Given the description of an element on the screen output the (x, y) to click on. 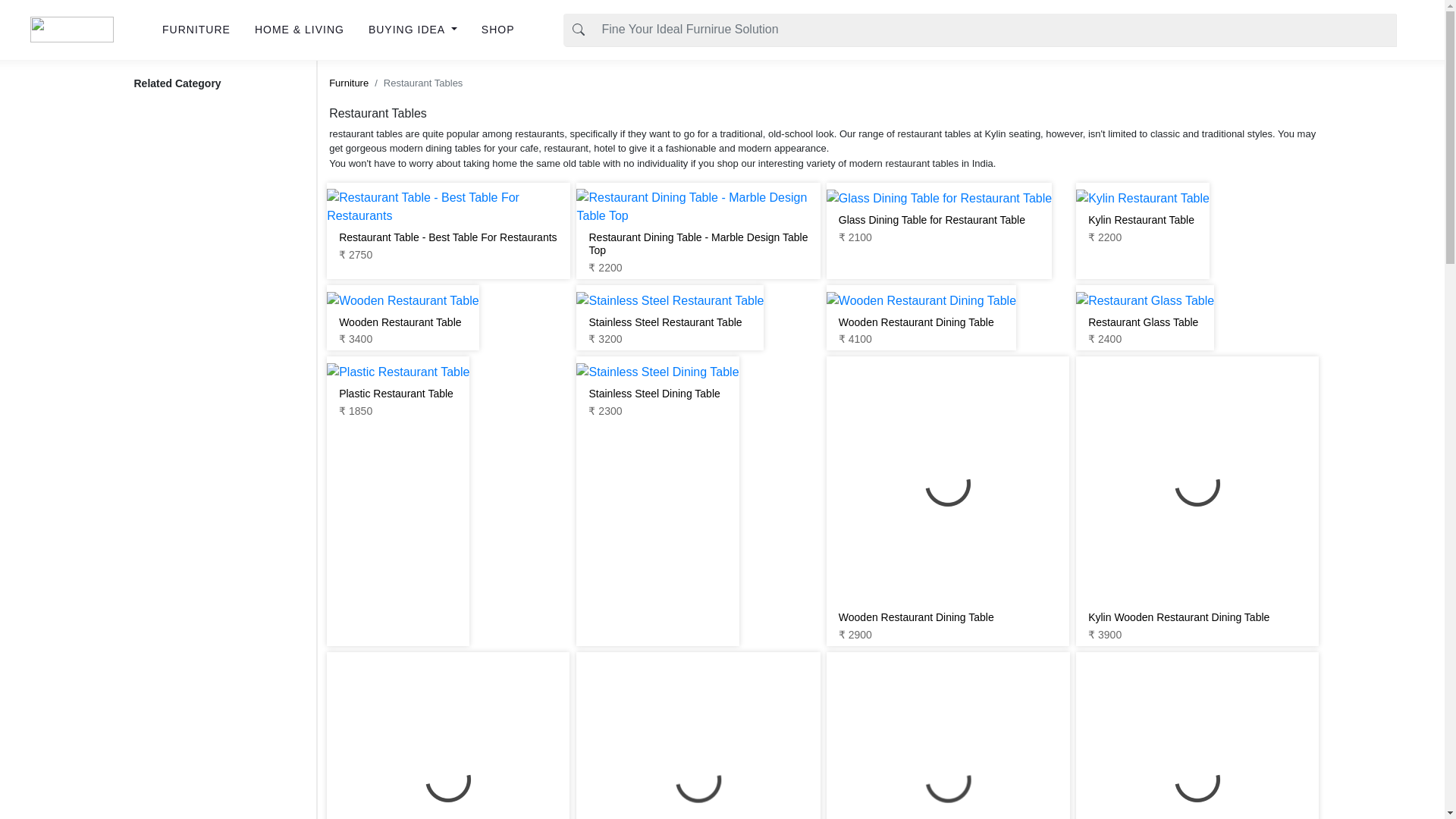
BUYING IDEA (412, 29)
FURNITURE (196, 29)
SHOP (497, 29)
